Given the description of an element on the screen output the (x, y) to click on. 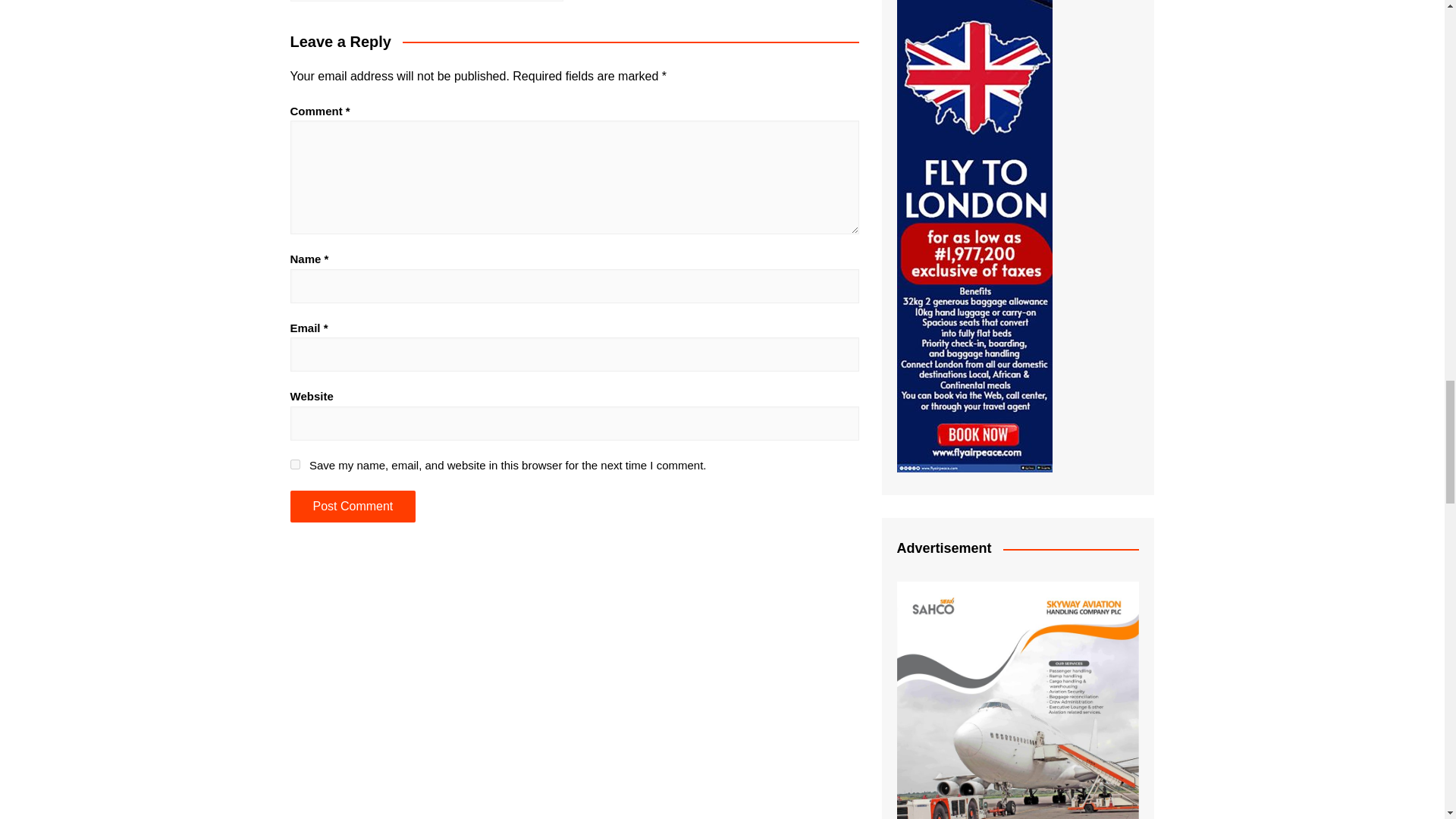
Post Comment (351, 506)
yes (294, 464)
Advertisement (1017, 700)
